Given the description of an element on the screen output the (x, y) to click on. 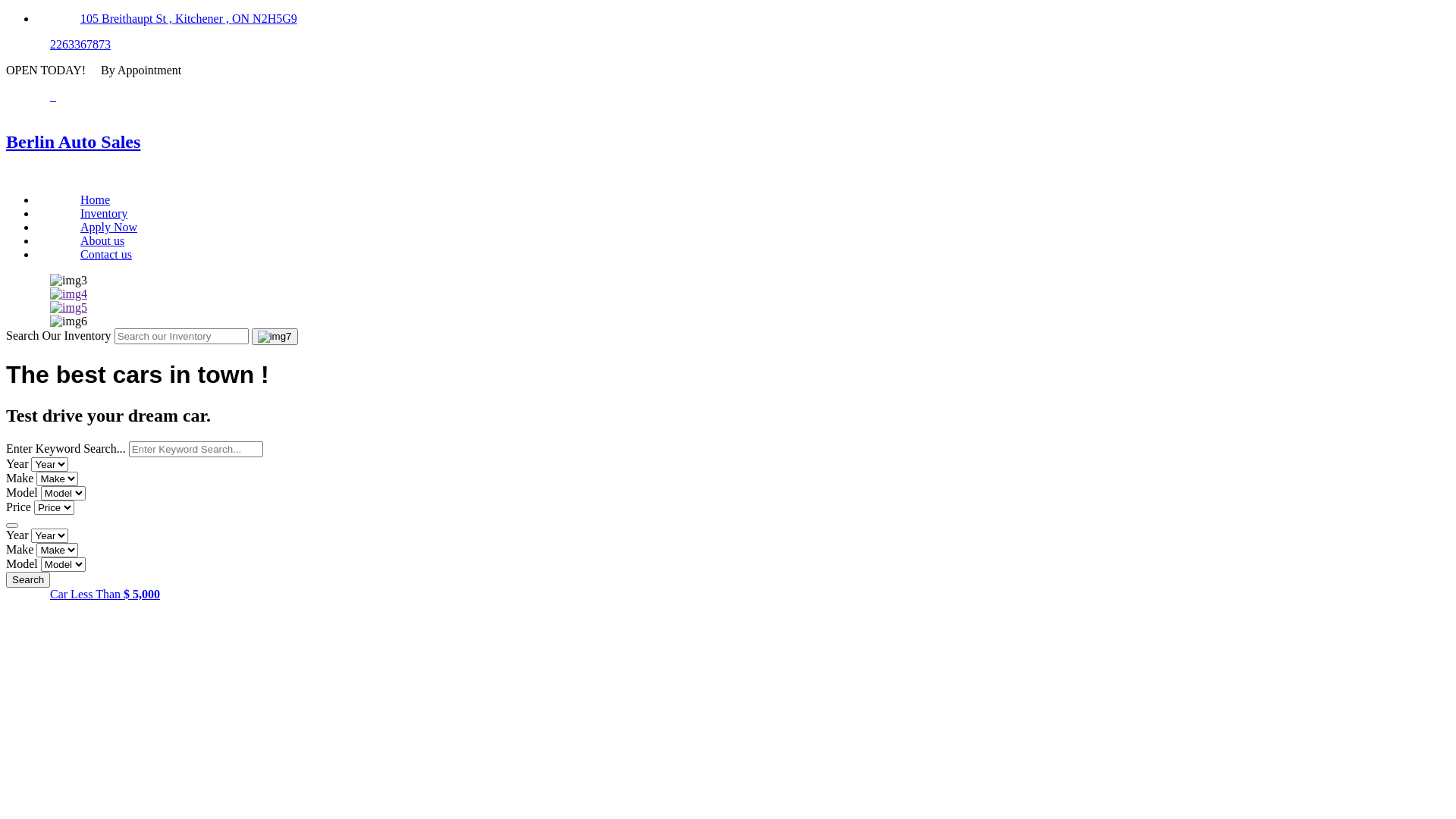
Berlin Auto Sales Element type: text (727, 141)
Contact us Element type: text (105, 254)
Apply Now Element type: text (108, 226)
Car Less Than $ 5,000 Element type: text (104, 593)
Inventory Element type: text (103, 213)
_ Element type: text (53, 95)
Search Element type: text (28, 579)
About us Element type: text (102, 240)
2263367873 Element type: text (80, 44)
Home Element type: text (94, 199)
